Given the description of an element on the screen output the (x, y) to click on. 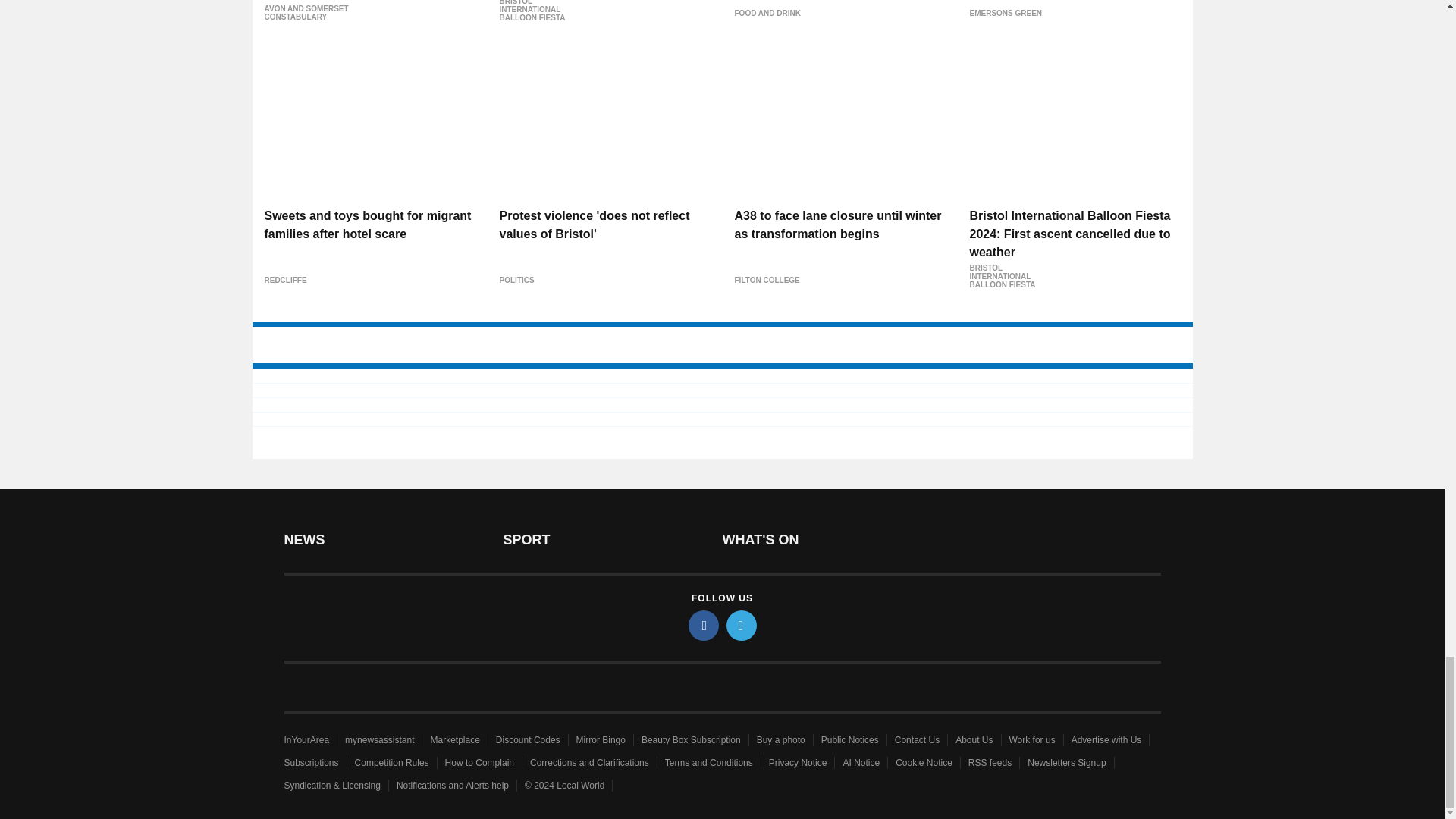
twitter (741, 625)
facebook (703, 625)
